Given the description of an element on the screen output the (x, y) to click on. 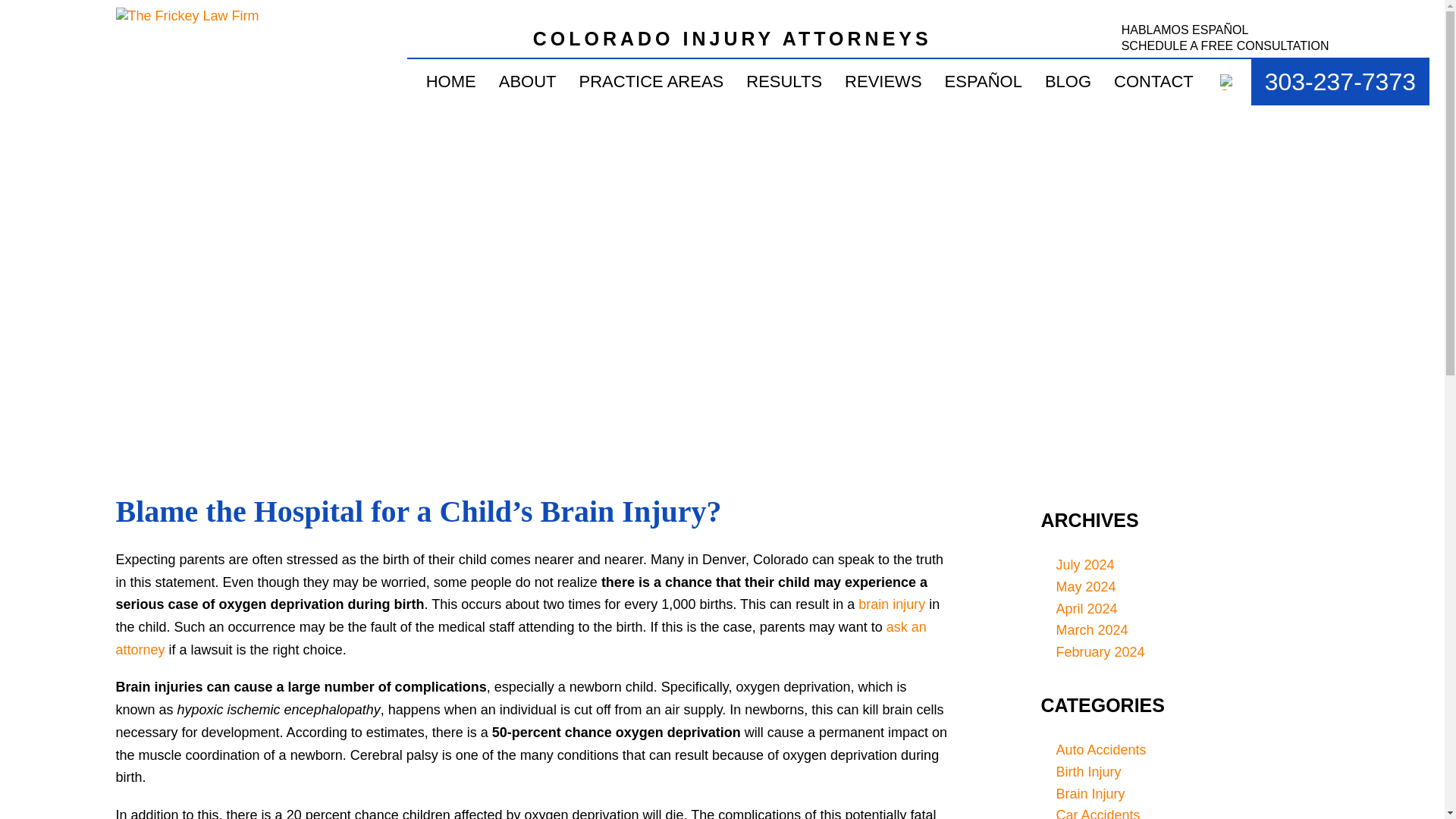
RESULTS (783, 81)
REVIEWS (882, 81)
PRACTICE AREAS (651, 81)
HOME (450, 81)
ABOUT (527, 81)
